Given the description of an element on the screen output the (x, y) to click on. 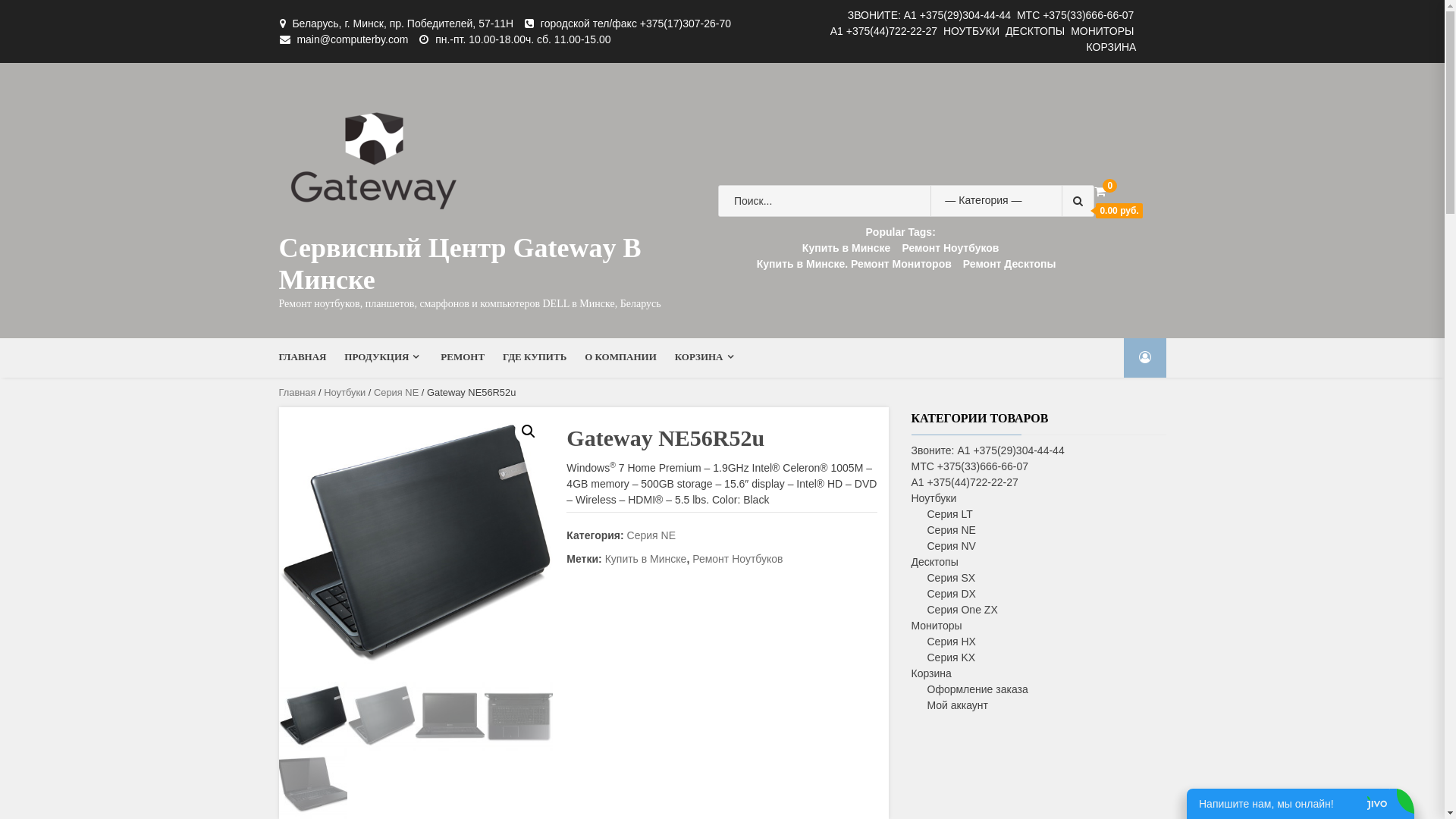
A1 +375(44)722-22-27 Element type: text (964, 482)
0 Element type: text (1099, 191)
A1 +375(44)722-22-27 Element type: text (883, 31)
Gateway NE56R52u Element type: hover (416, 544)
main@computerby.com Element type: text (351, 39)
